Given the description of an element on the screen output the (x, y) to click on. 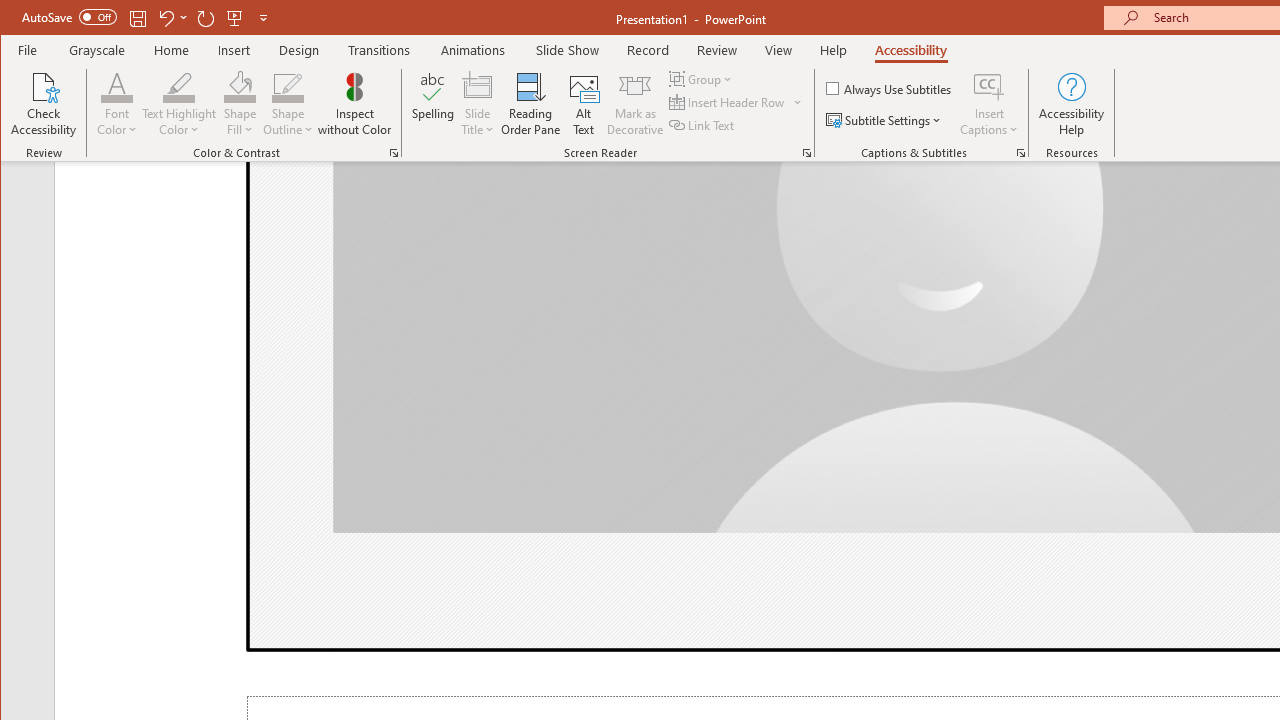
Reading Order Pane (531, 104)
Always Use Subtitles (890, 88)
Link Text (703, 124)
Accessibility Help (1071, 104)
Mark as Decorative (635, 104)
